Given the description of an element on the screen output the (x, y) to click on. 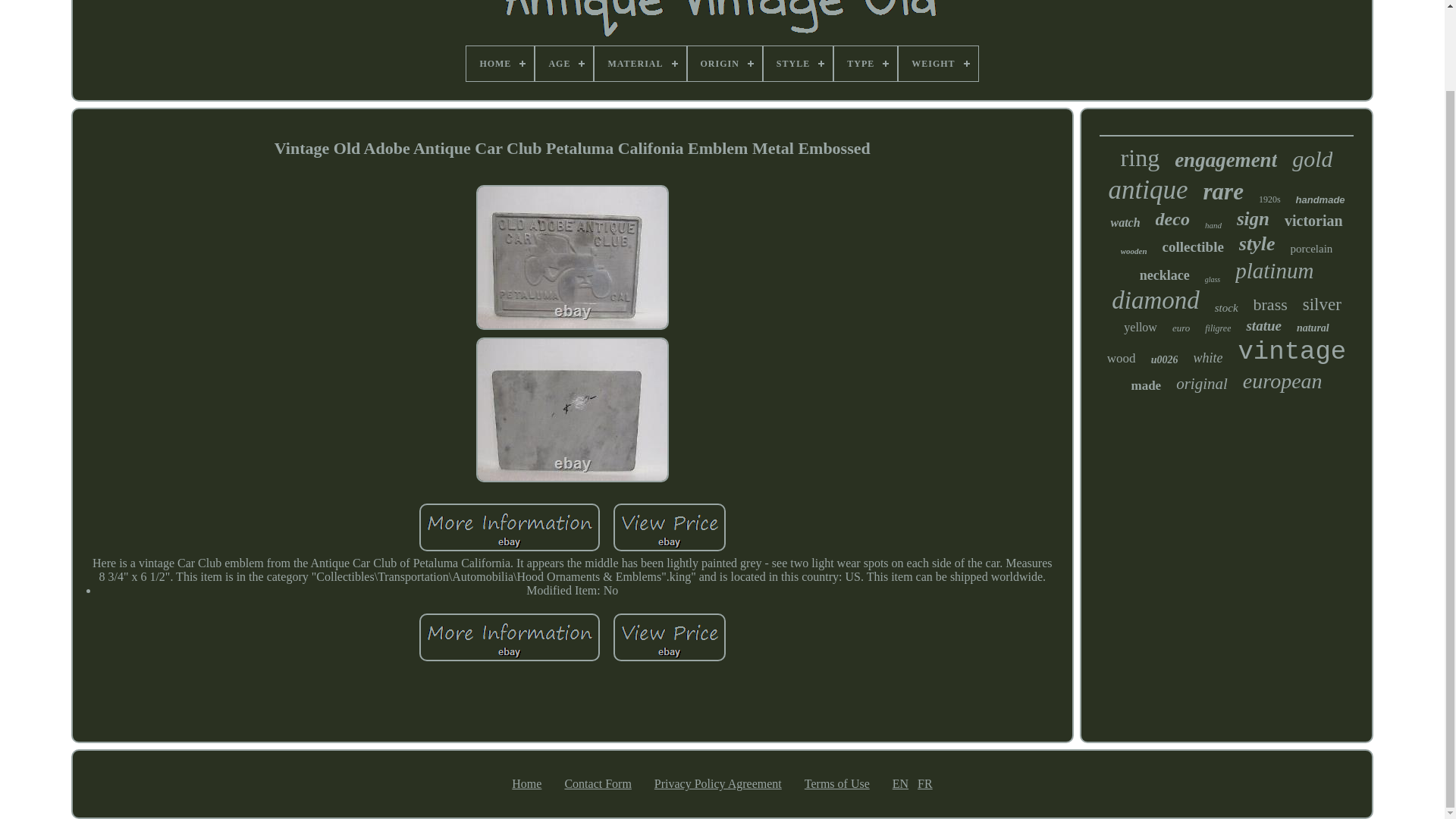
HOME (499, 63)
AGE (563, 63)
MATERIAL (639, 63)
